Given the description of an element on the screen output the (x, y) to click on. 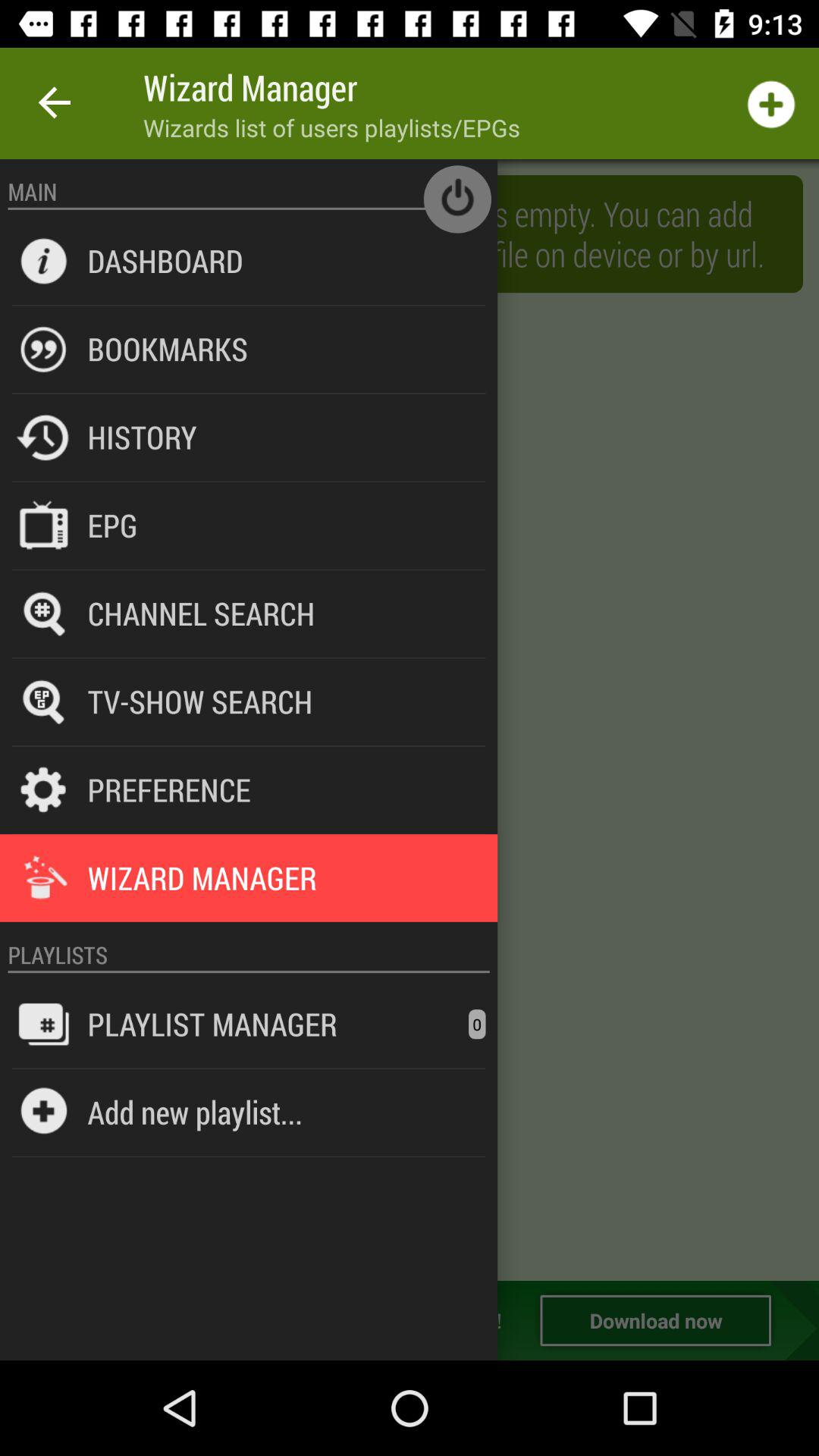
jump until tv-show search (199, 701)
